Given the description of an element on the screen output the (x, y) to click on. 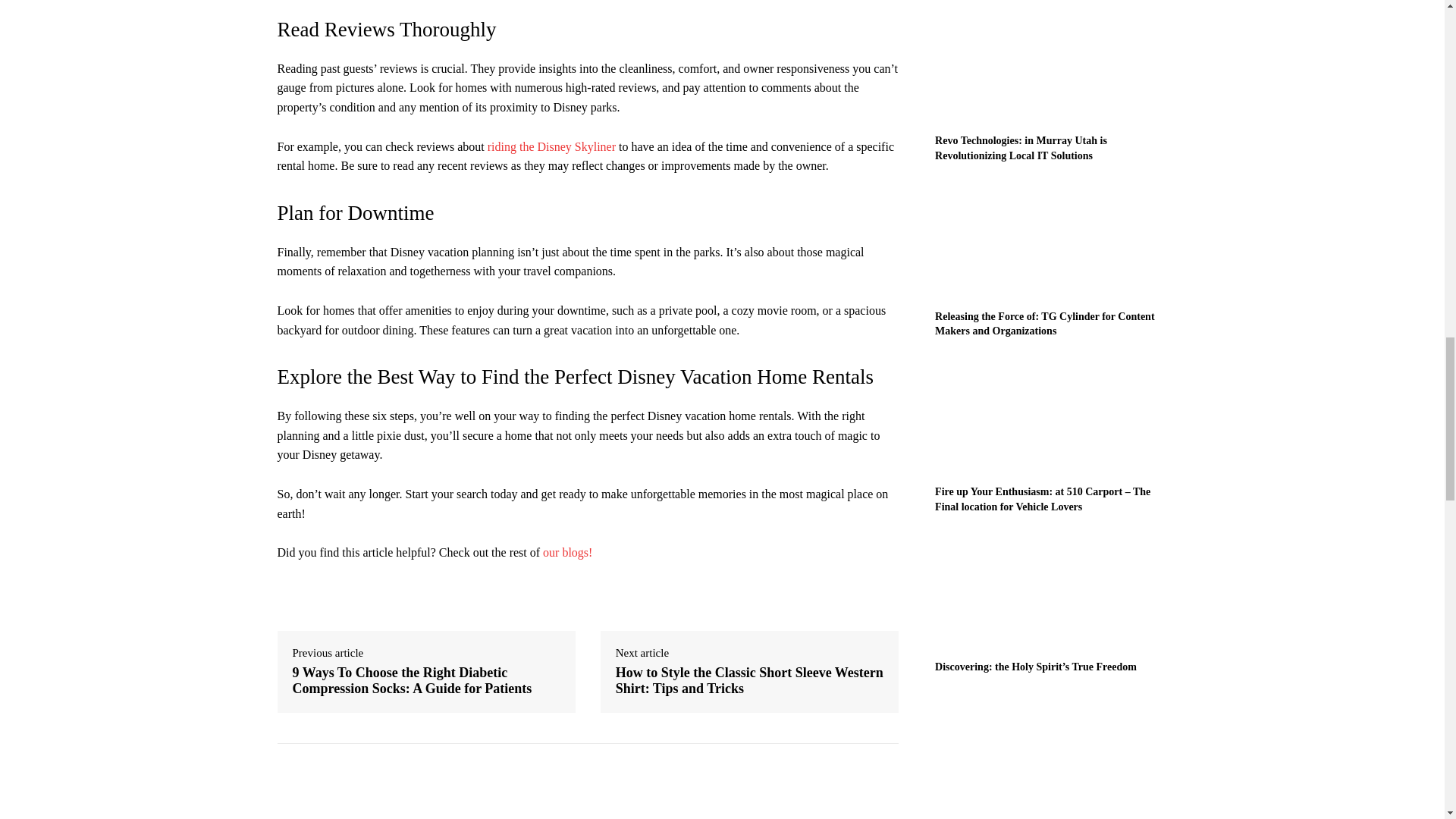
B (467, 789)
